Given the description of an element on the screen output the (x, y) to click on. 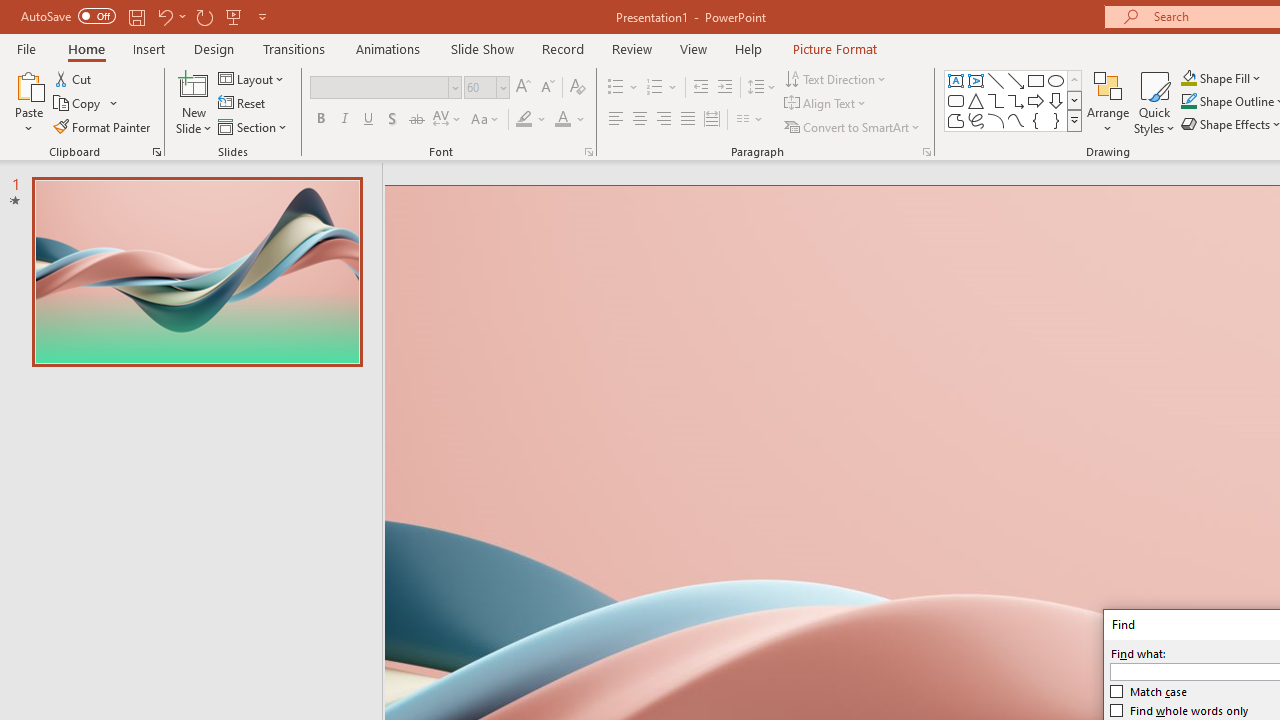
Rectangle (1035, 80)
Justify (687, 119)
Shape Fill Orange, Accent 2 (1188, 78)
Paragraph... (926, 151)
Vertical Text Box (975, 80)
Shapes (1074, 120)
Reset (243, 103)
Office Clipboard... (156, 151)
Cut (73, 78)
Convert to SmartArt (853, 126)
